Given the description of an element on the screen output the (x, y) to click on. 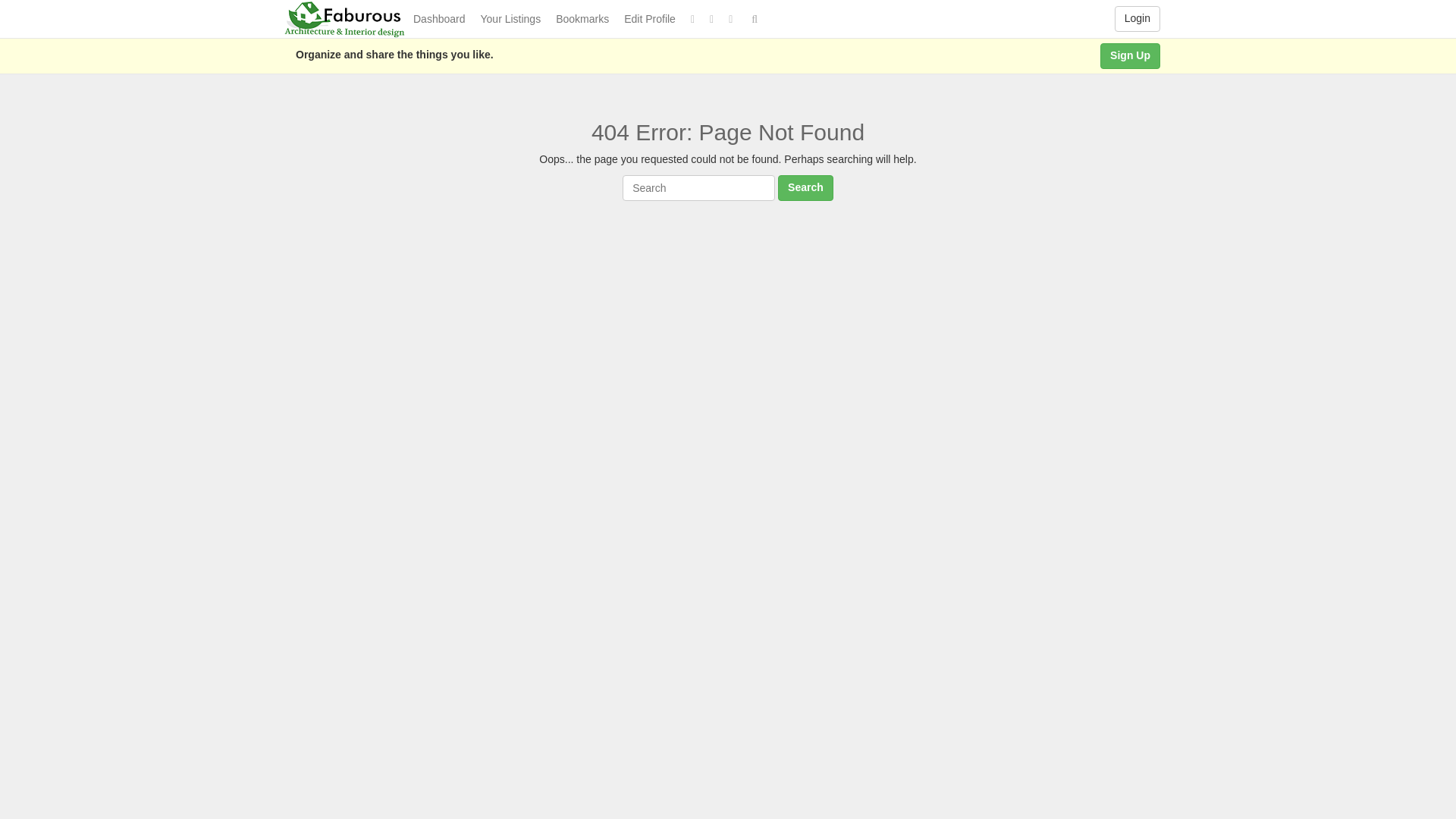
Bookmarks (581, 18)
Dashboard (439, 18)
Your Listings (510, 18)
Edit Profile (648, 18)
Search (804, 187)
Login (1137, 18)
Sign Up (1130, 55)
